Given the description of an element on the screen output the (x, y) to click on. 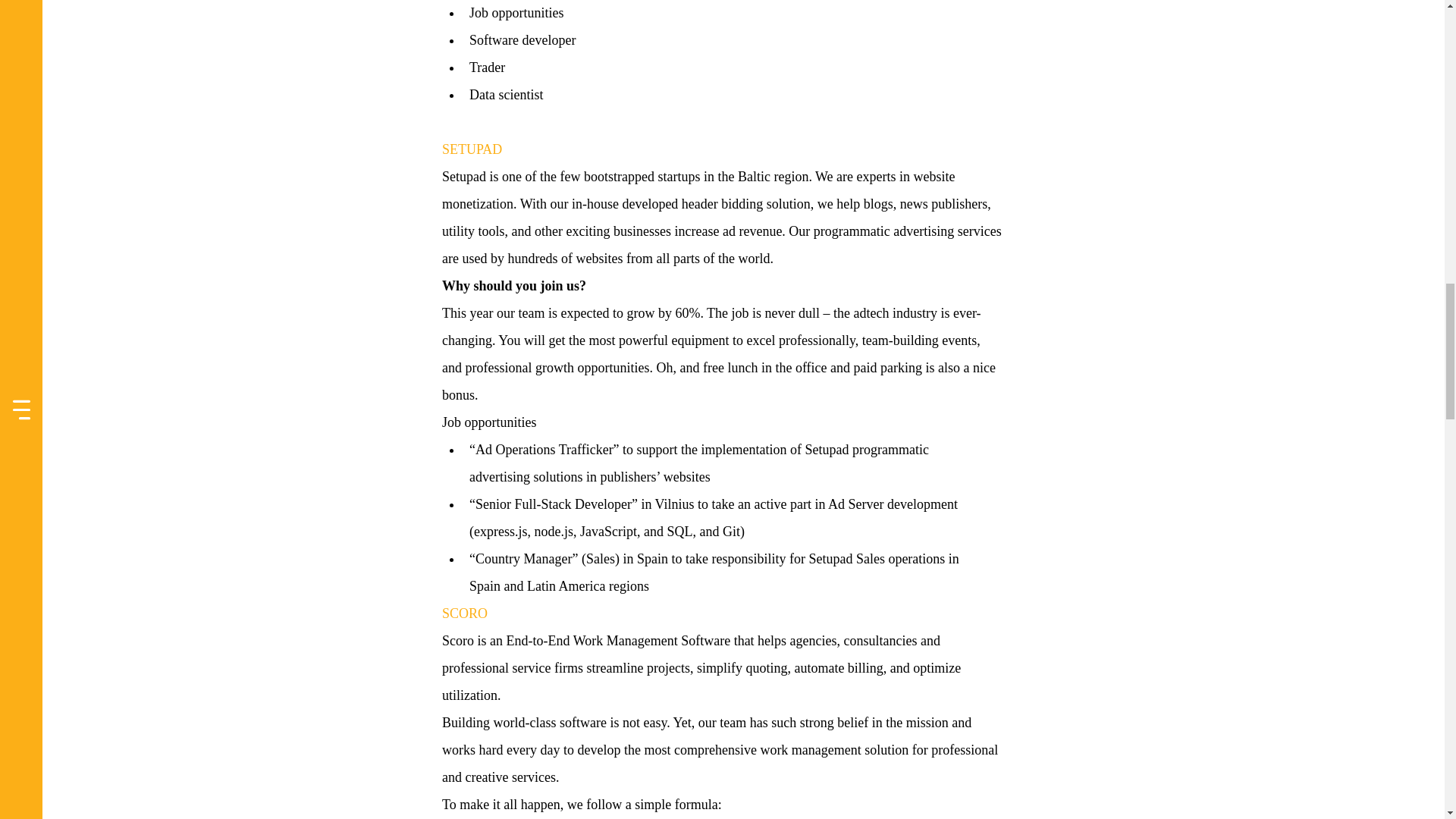
SCORO (463, 613)
SETUPAD (470, 149)
